Given the description of an element on the screen output the (x, y) to click on. 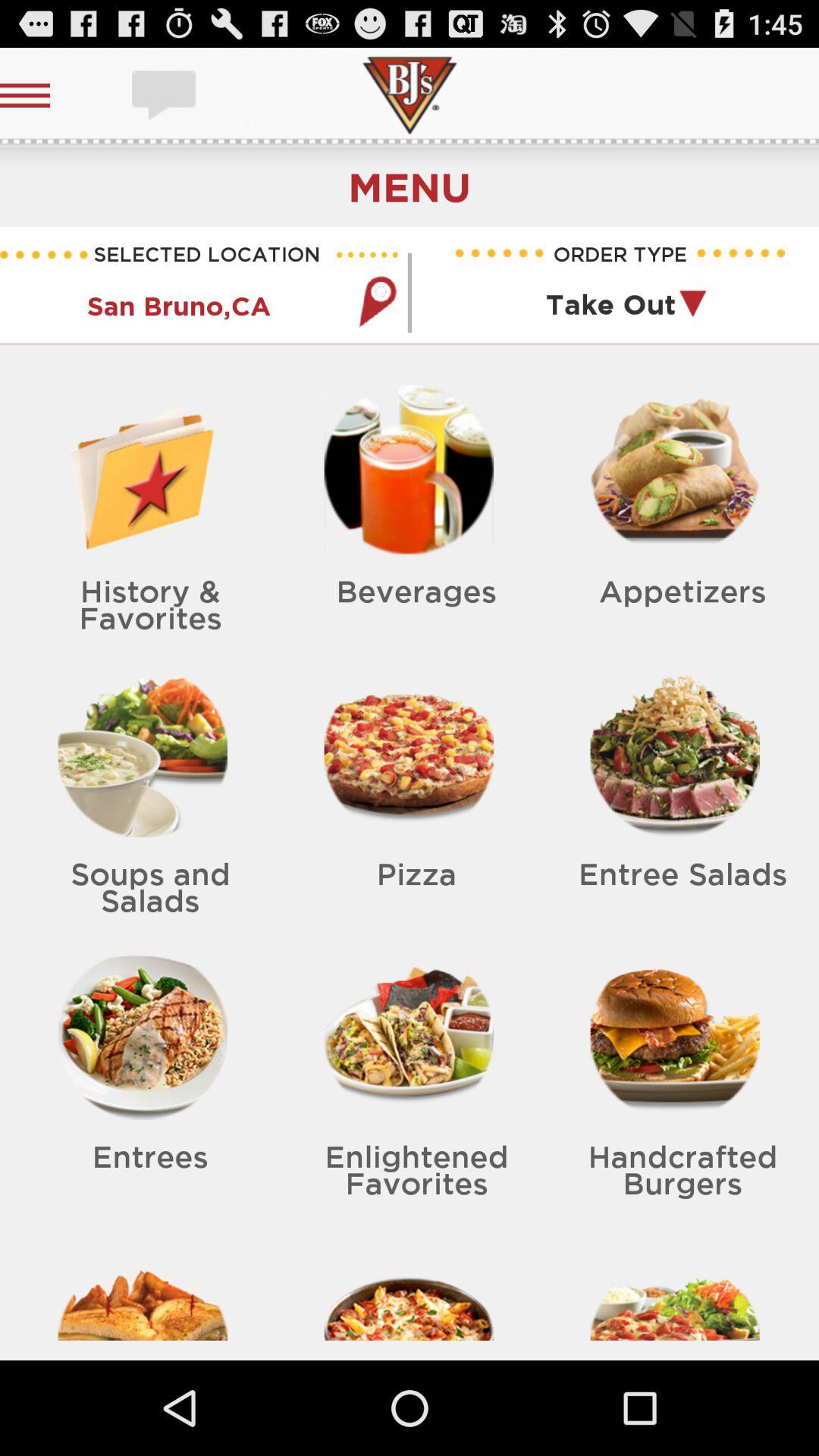
choose the mail option (165, 95)
